Given the description of an element on the screen output the (x, y) to click on. 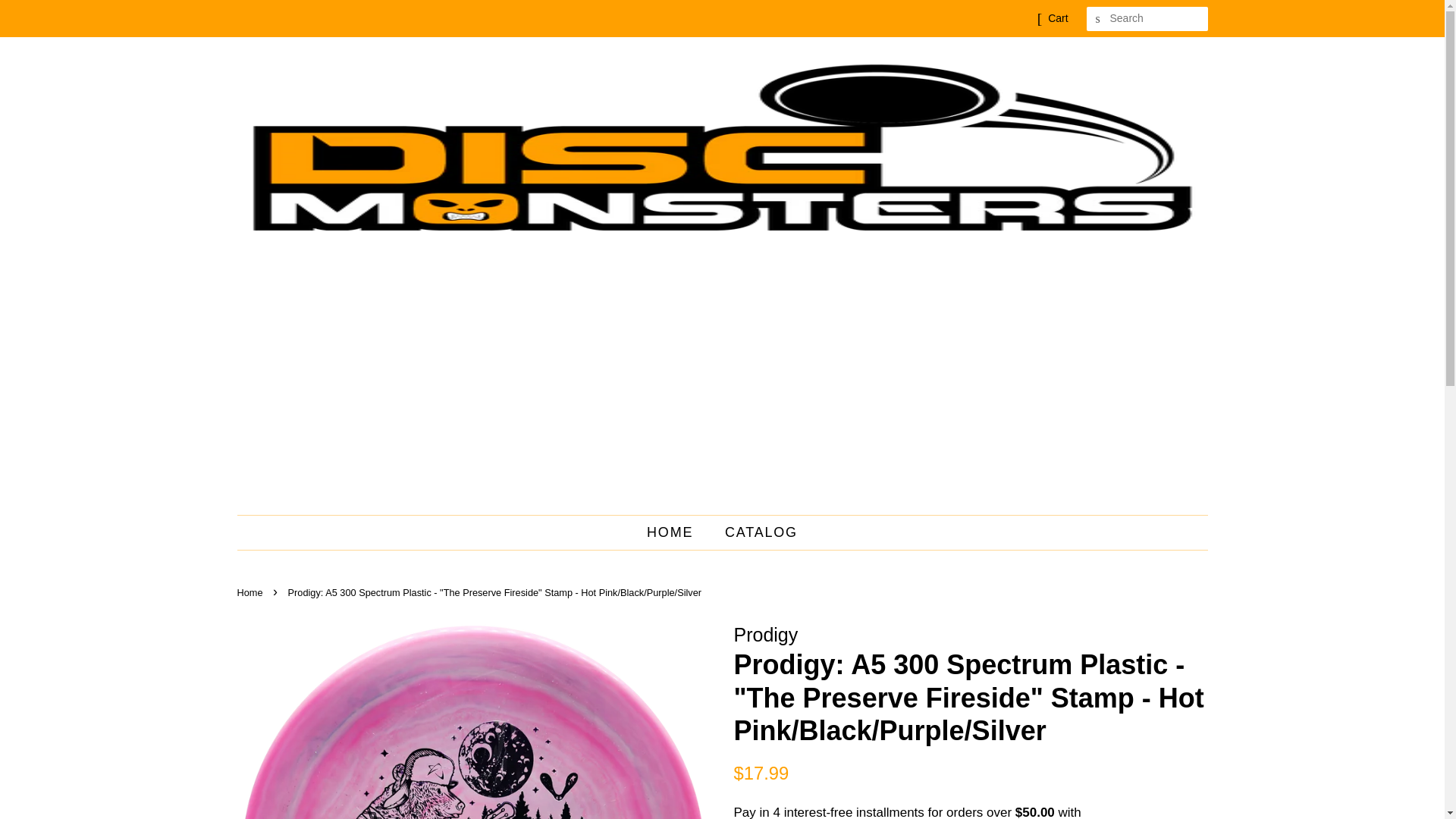
Cart (1057, 18)
SEARCH (1097, 18)
HOME (676, 532)
Back to the frontpage (250, 592)
Home (250, 592)
CATALOG (755, 532)
